Given the description of an element on the screen output the (x, y) to click on. 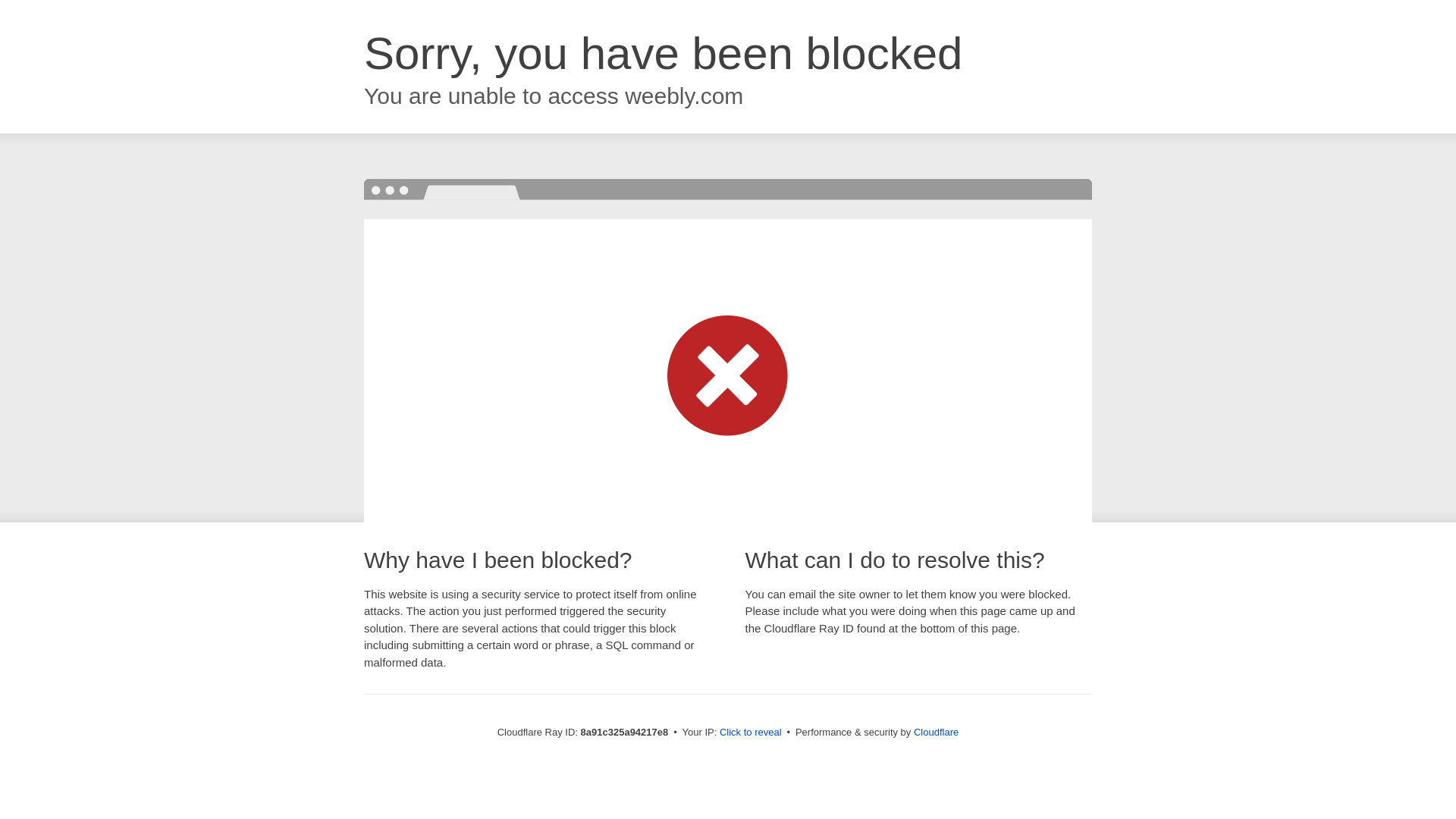
Click to reveal (750, 732)
Cloudflare (936, 731)
